Given the description of an element on the screen output the (x, y) to click on. 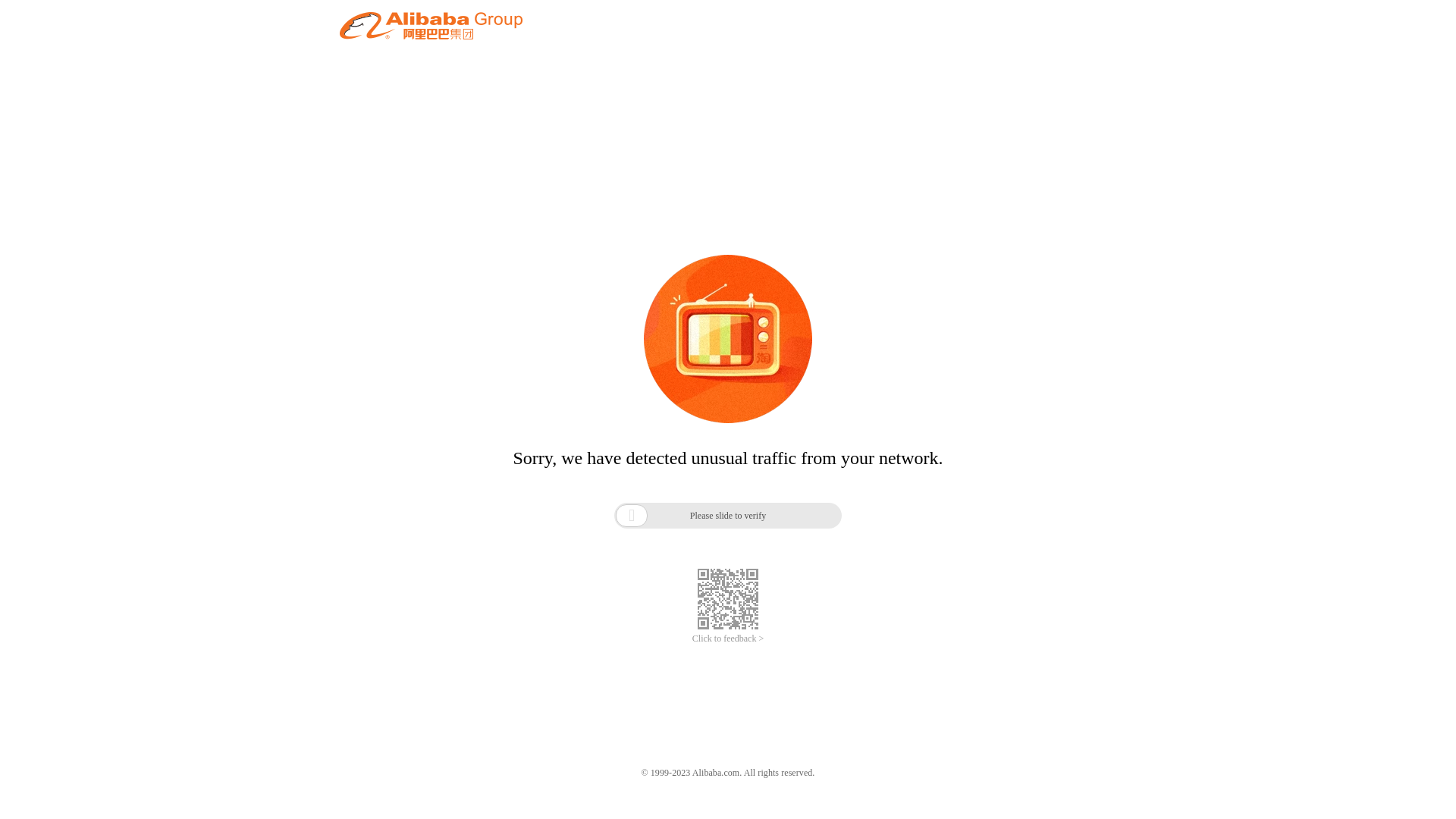
Click to feedback > Element type: text (727, 638)
